Given the description of an element on the screen output the (x, y) to click on. 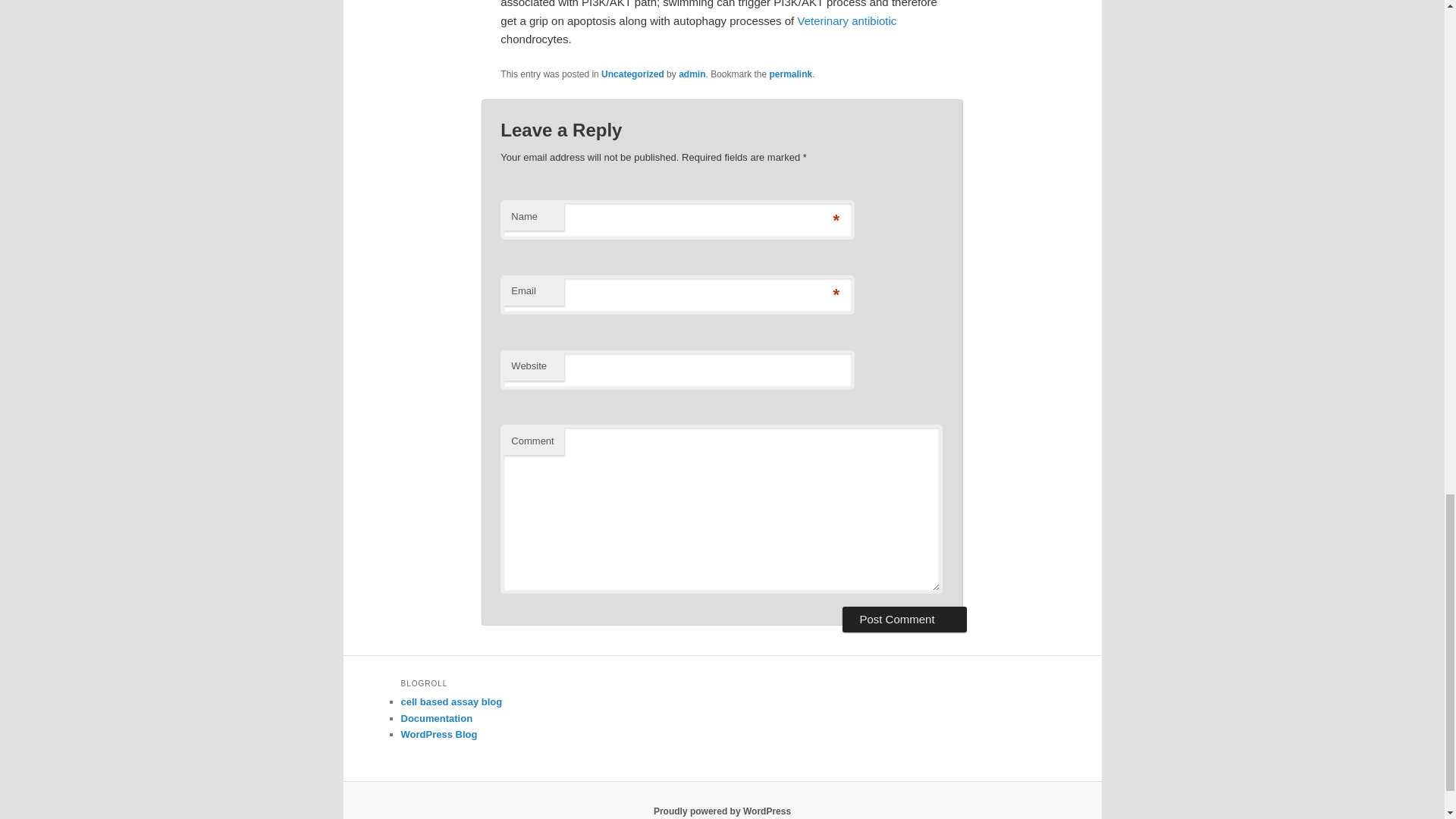
cell based assay blog (451, 701)
View all posts in Uncategorized (632, 73)
Proudly powered by WordPress (721, 810)
admin (691, 73)
Veterinary antibiotic (846, 20)
Post Comment (904, 619)
Uncategorized (632, 73)
permalink (791, 73)
Documentation (435, 717)
Post Comment (904, 619)
Semantic Personal Publishing Platform (721, 810)
WordPress Blog (438, 734)
